Given the description of an element on the screen output the (x, y) to click on. 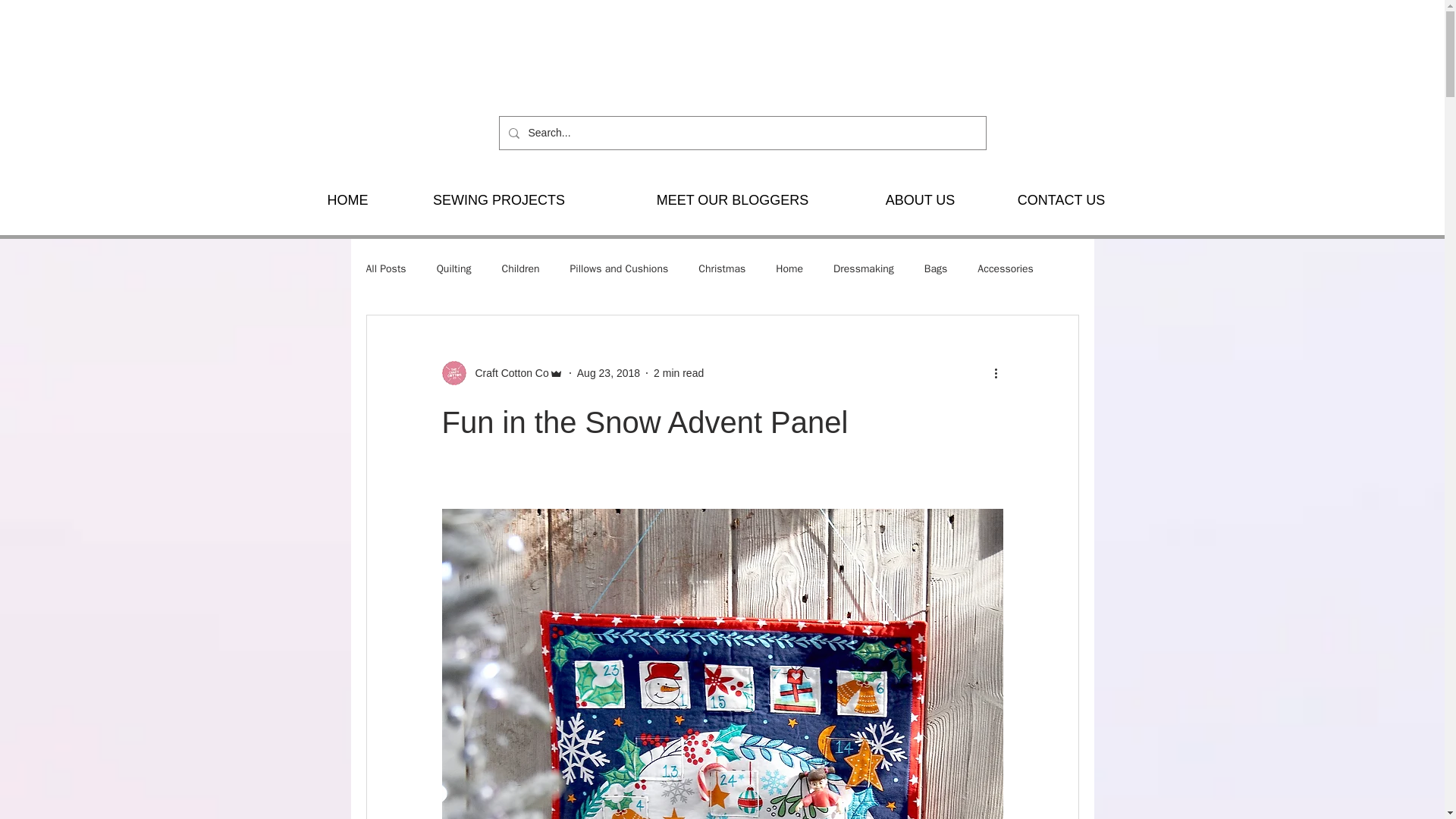
Christmas (721, 269)
Craft Cotton Co (506, 373)
Bags (935, 269)
All Posts (385, 269)
MEET OUR BLOGGERS (732, 200)
Children (519, 269)
Accessories (1004, 269)
2 min read (678, 372)
Home (789, 269)
Quilting (453, 269)
